Given the description of an element on the screen output the (x, y) to click on. 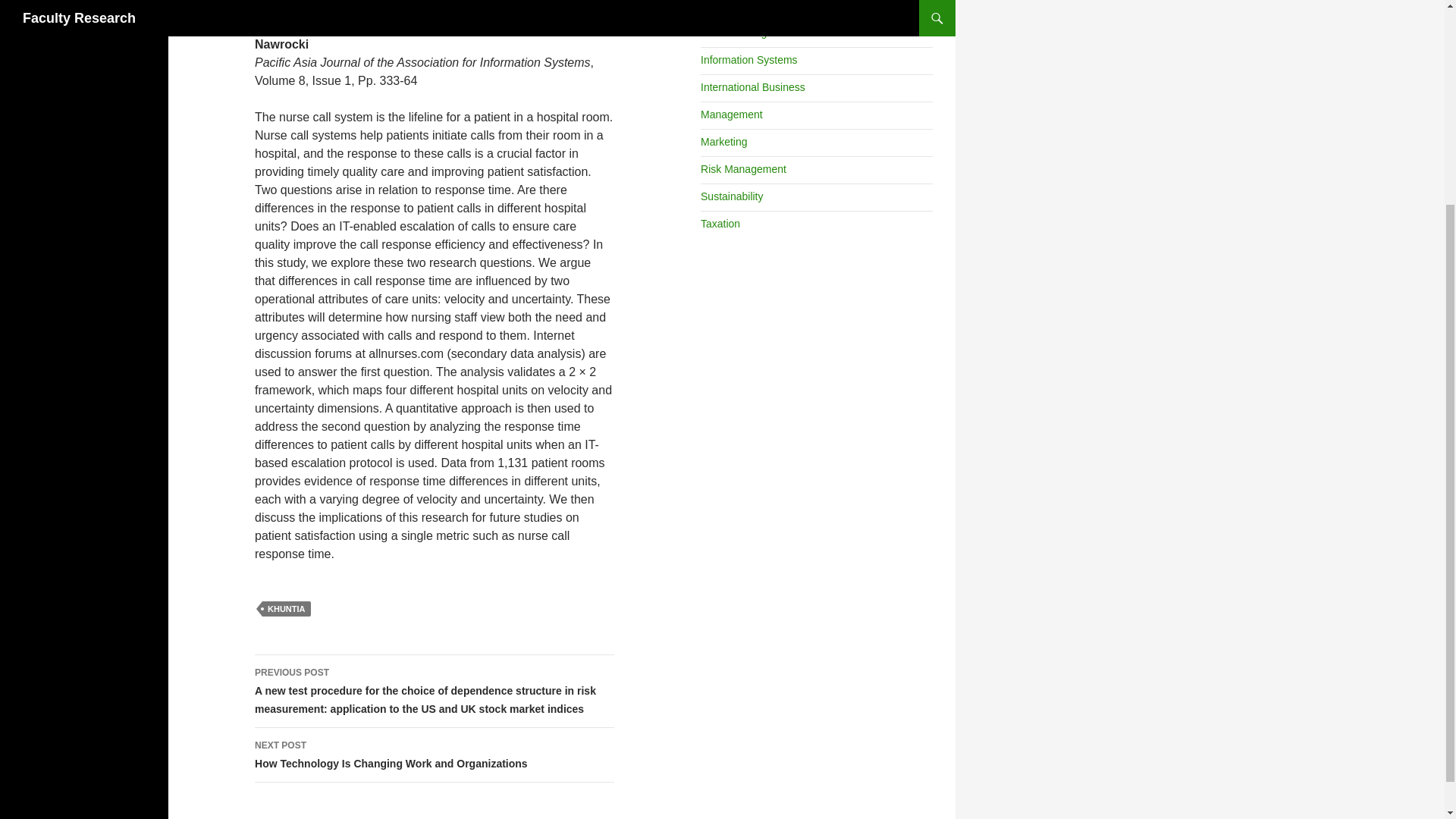
KHUNTIA (286, 608)
Taxation (719, 223)
Finance (719, 5)
Marketing (723, 141)
Sustainability (731, 196)
Management (731, 114)
Information Systems (748, 60)
Risk Management (743, 168)
Health Management (748, 32)
International Business (434, 755)
